Given the description of an element on the screen output the (x, y) to click on. 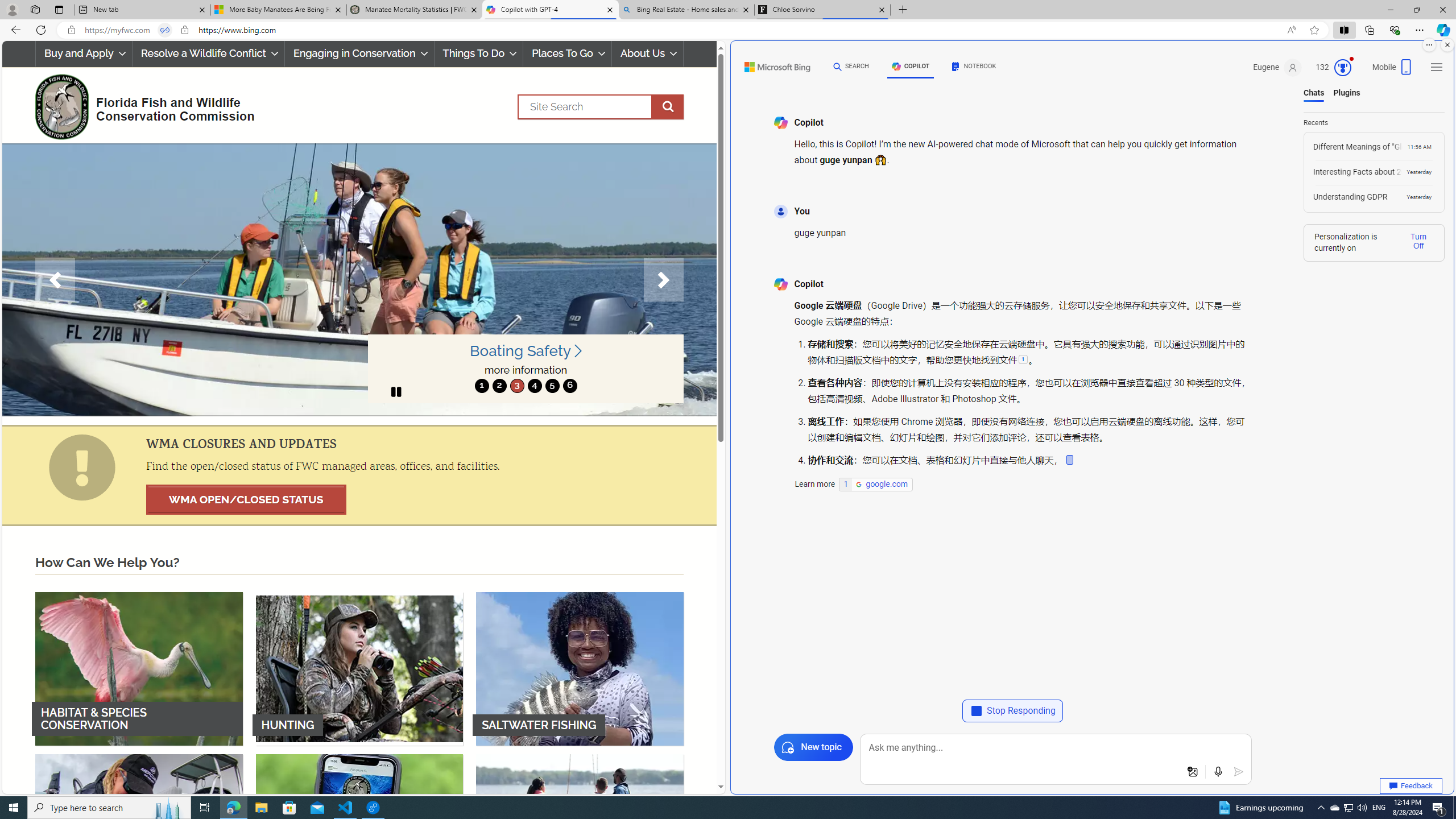
Settings and quick links (1436, 67)
Places To Go (566, 53)
NOTEBOOK (974, 68)
4 (534, 385)
Ask me anything... (1055, 748)
Plugins (1346, 92)
Chat (837, 65)
SALTWATER FISHING (580, 668)
Mobile (1393, 70)
Submit (1238, 771)
